Given the description of an element on the screen output the (x, y) to click on. 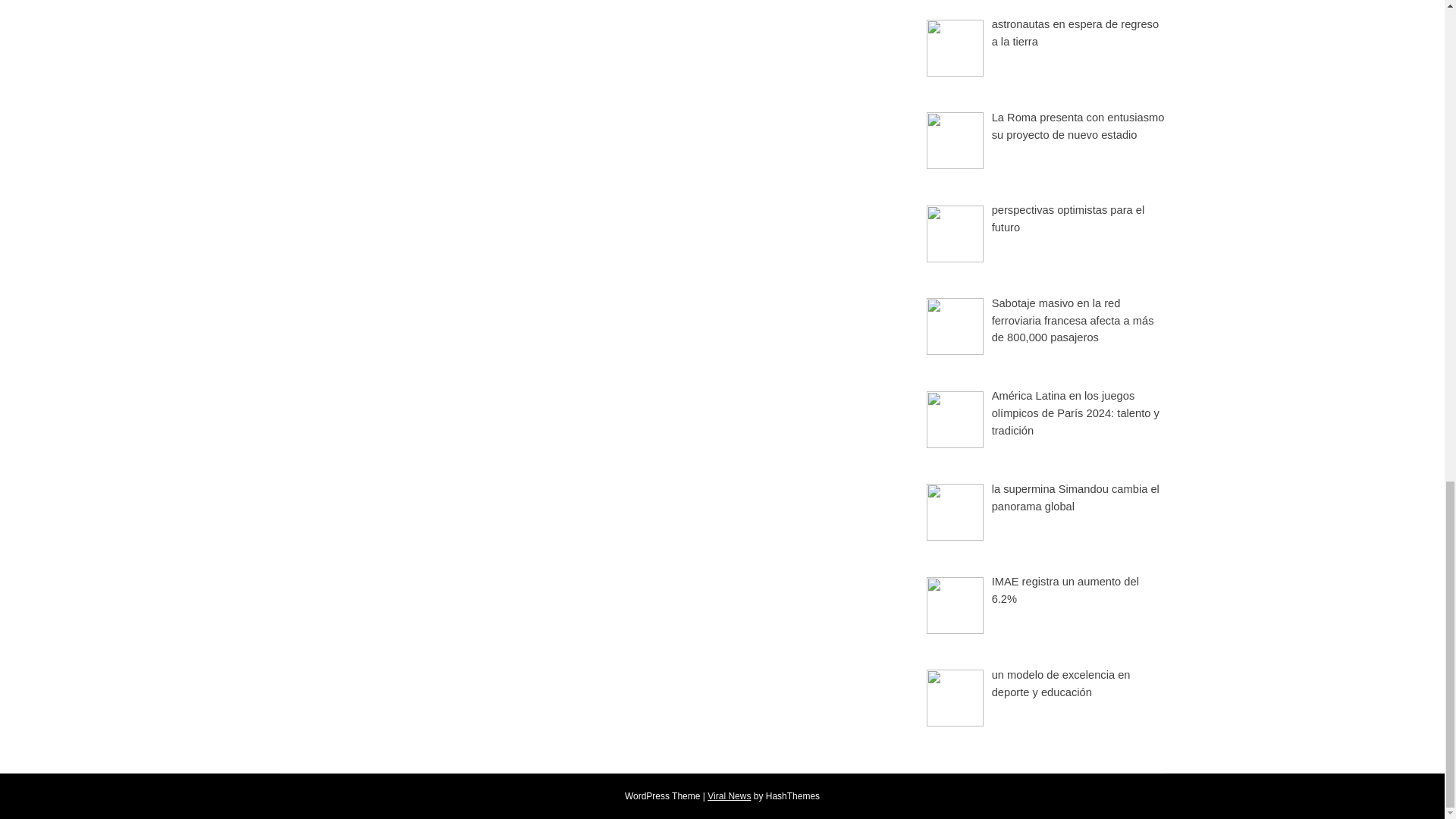
perspectivas optimistas para el futuro (1067, 218)
Viral News (729, 796)
la supermina Simandou cambia el panorama global (1074, 497)
astronautas en espera de regreso a la tierra (1074, 32)
Download Viral News (729, 796)
La Roma presenta con entusiasmo su proyecto de nuevo estadio (1077, 125)
